Given the description of an element on the screen output the (x, y) to click on. 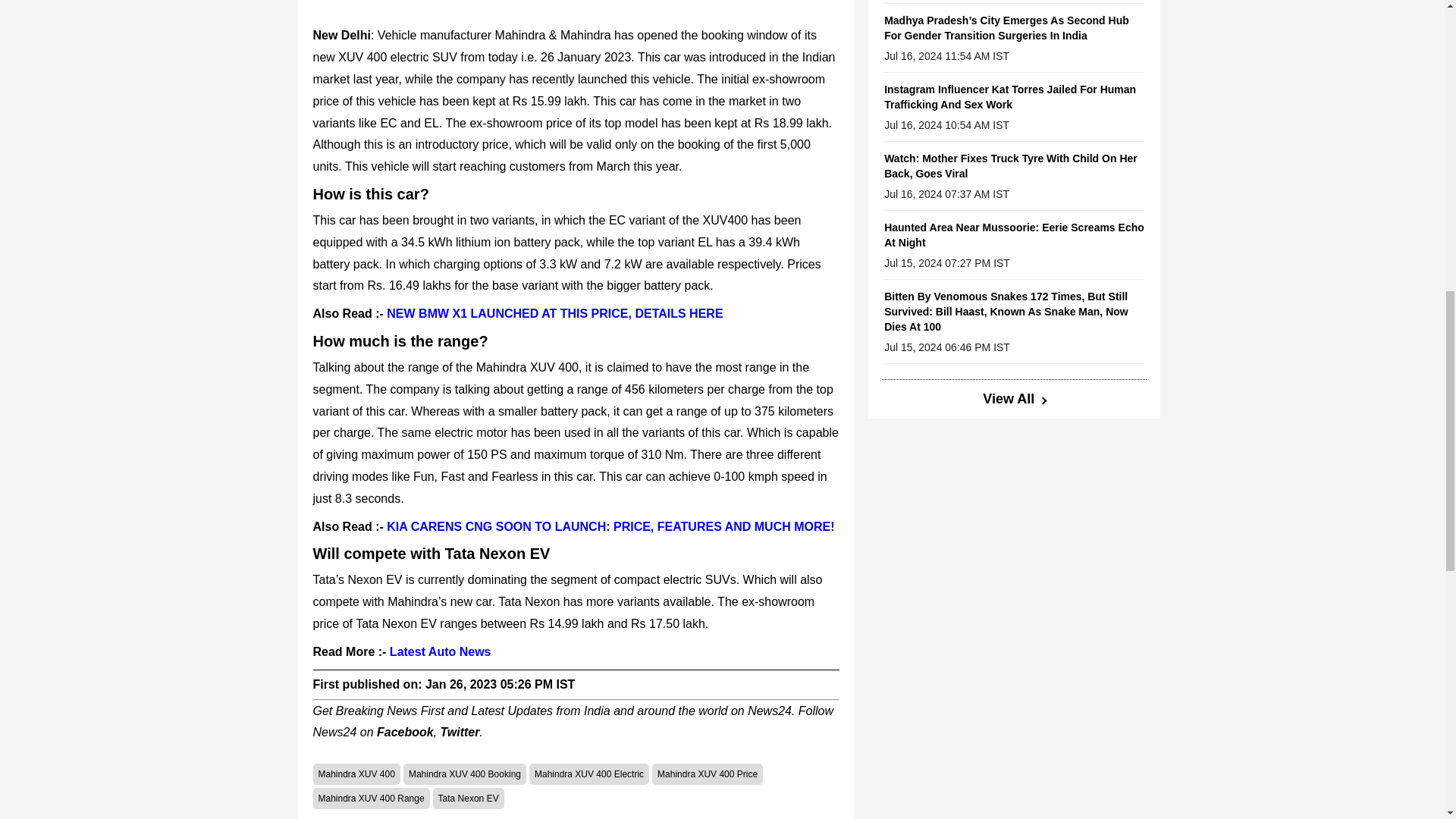
New BMW X1 launched at THIS price, details here (554, 313)
